Given the description of an element on the screen output the (x, y) to click on. 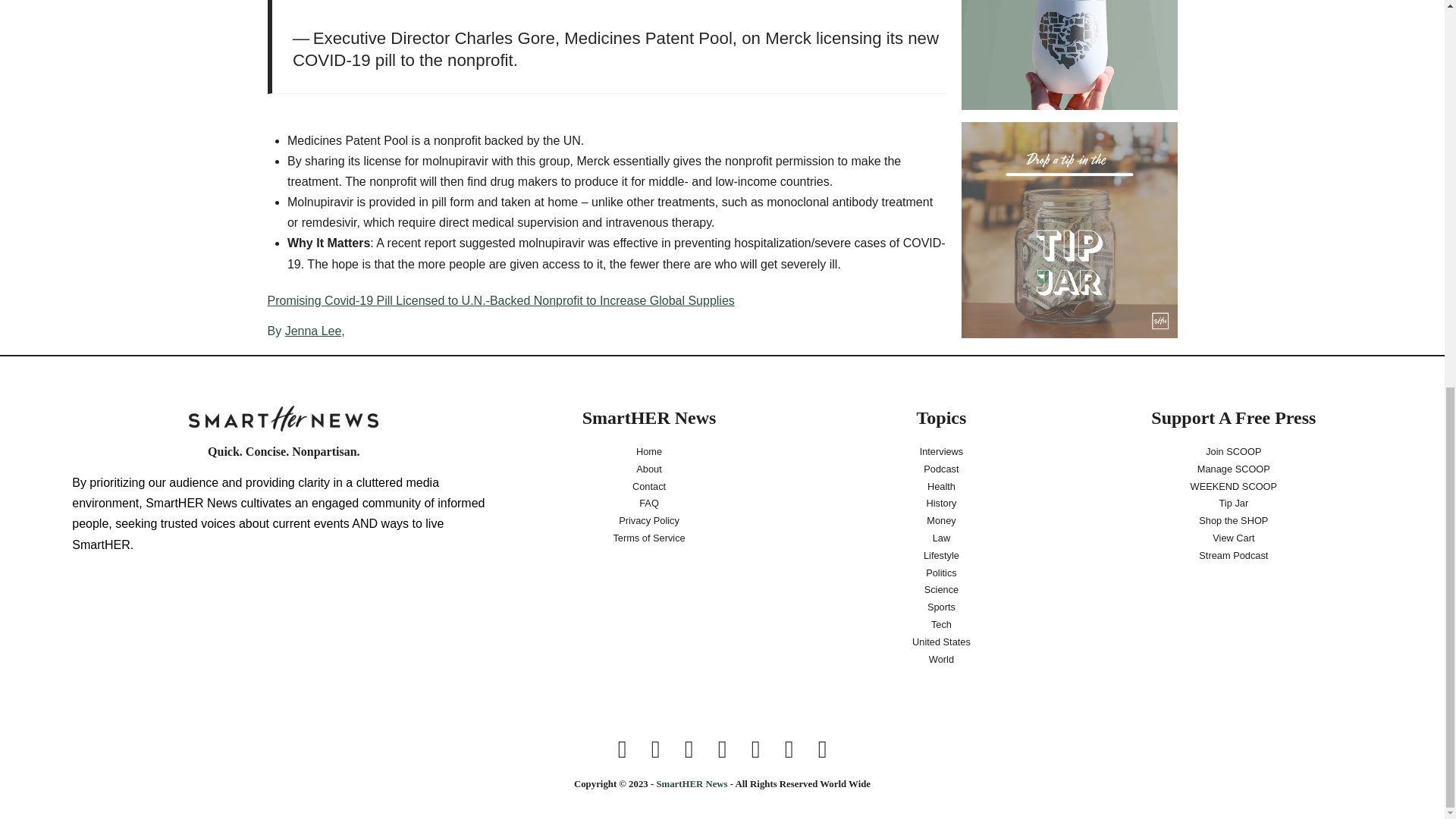
FAQ (648, 503)
By Jenna Lee, (605, 330)
About (648, 469)
Lifestyle (941, 556)
Interviews (941, 452)
Podcast (941, 469)
Science (941, 589)
Politics (940, 573)
Sports (941, 607)
Contact (648, 487)
Law (940, 538)
Terms of Service (648, 538)
Money (941, 520)
Home (648, 452)
